Given the description of an element on the screen output the (x, y) to click on. 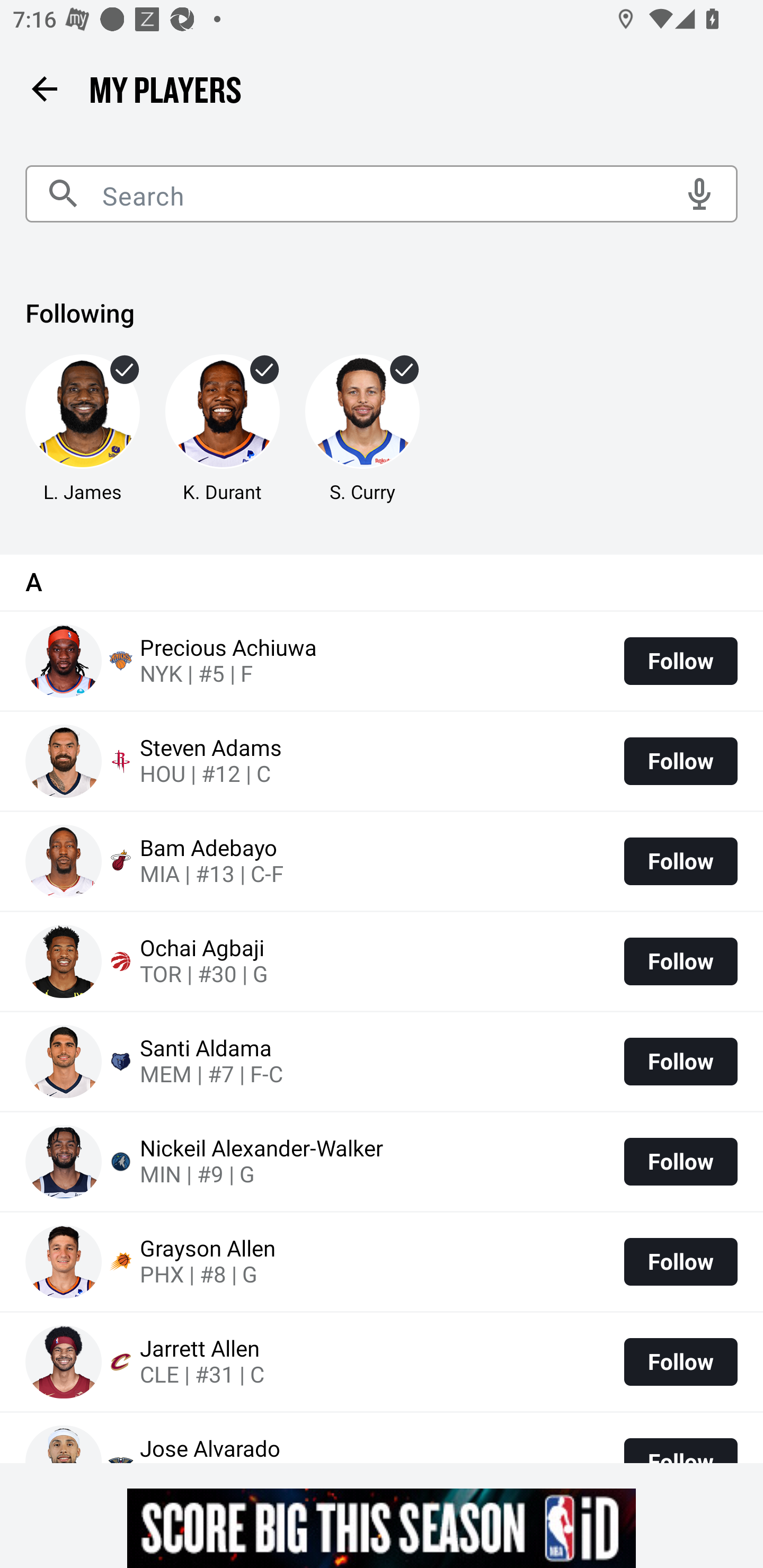
Back button (44, 88)
Search (381, 193)
Follow (680, 660)
Follow (680, 760)
Follow (680, 861)
Follow (680, 961)
Follow (680, 1061)
Follow (680, 1161)
Follow (680, 1261)
Follow (680, 1361)
g5nqqygr7owph (381, 1528)
